Given the description of an element on the screen output the (x, y) to click on. 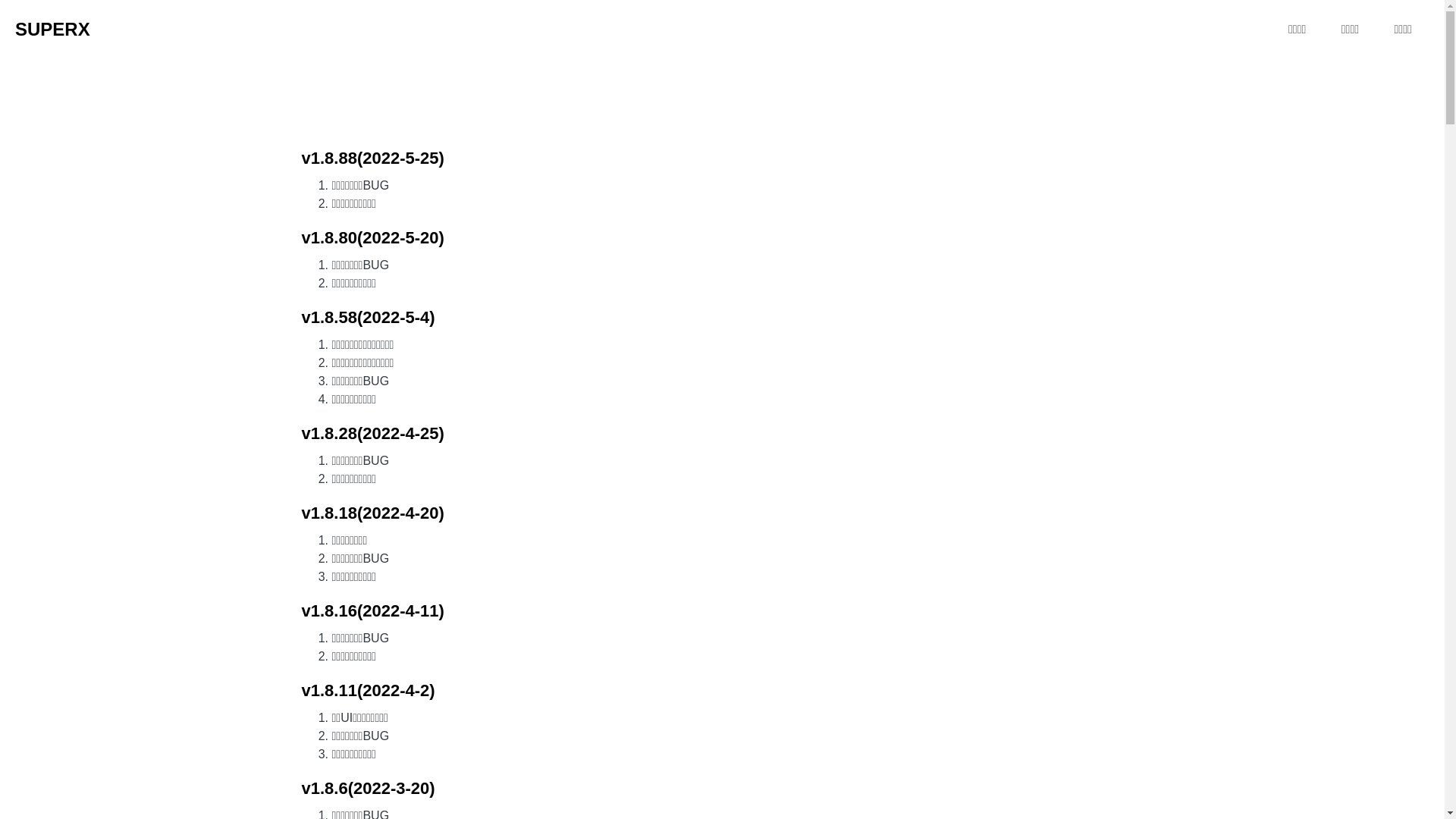
SUPERX Element type: text (52, 29)
